Given the description of an element on the screen output the (x, y) to click on. 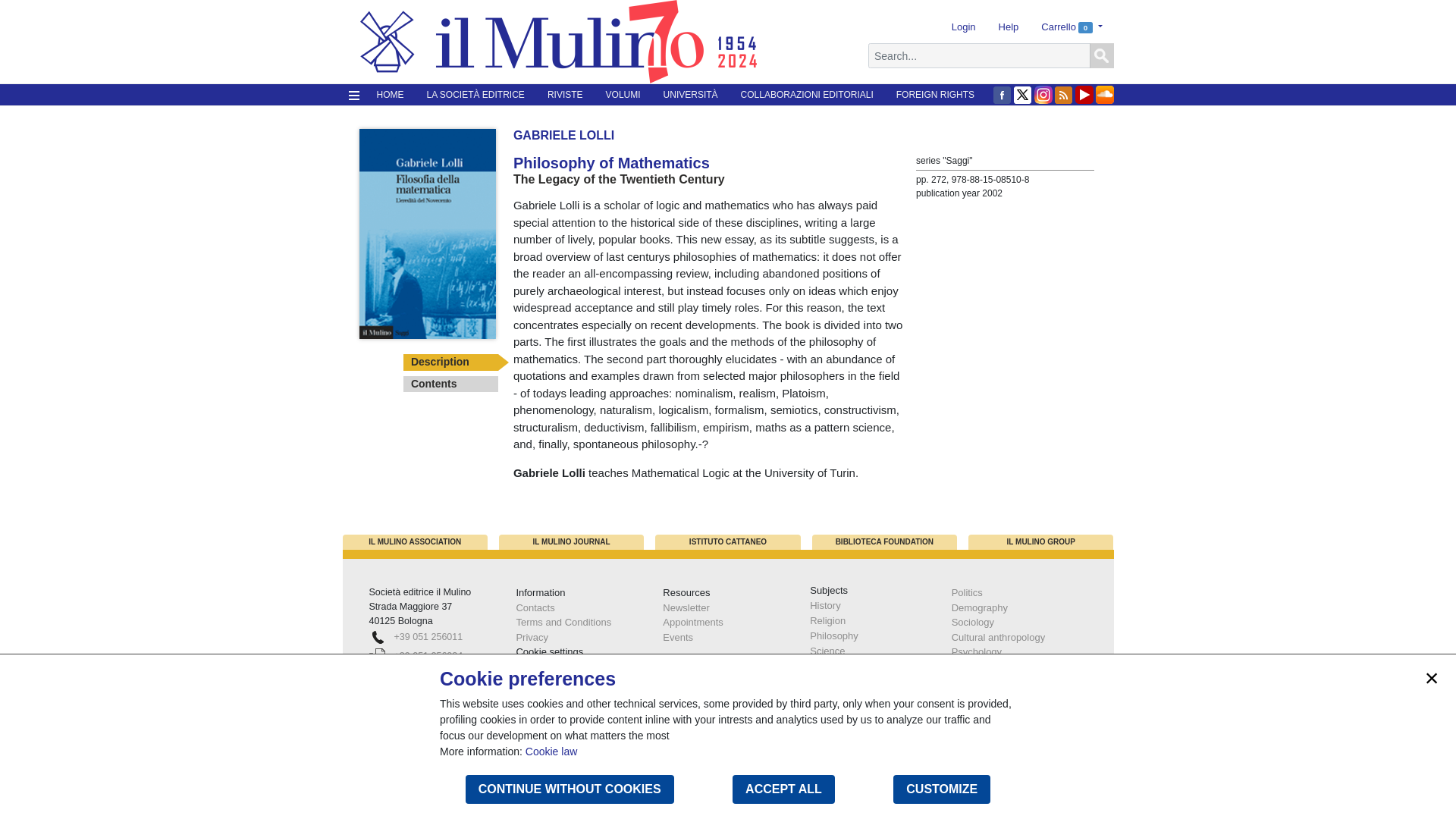
Home (389, 94)
Volumi (623, 94)
HOME (389, 94)
FOREIGN RIGHTS (935, 94)
Twitter X (1021, 94)
Login (963, 26)
facebook (1001, 94)
Instagram (1042, 94)
VOLUMI (623, 94)
COLLABORAZIONI EDITORIALI (807, 94)
Help (1008, 26)
Help (1008, 26)
RSS feed (1062, 94)
Search (1101, 55)
RIVISTE (564, 94)
